Given the description of an element on the screen output the (x, y) to click on. 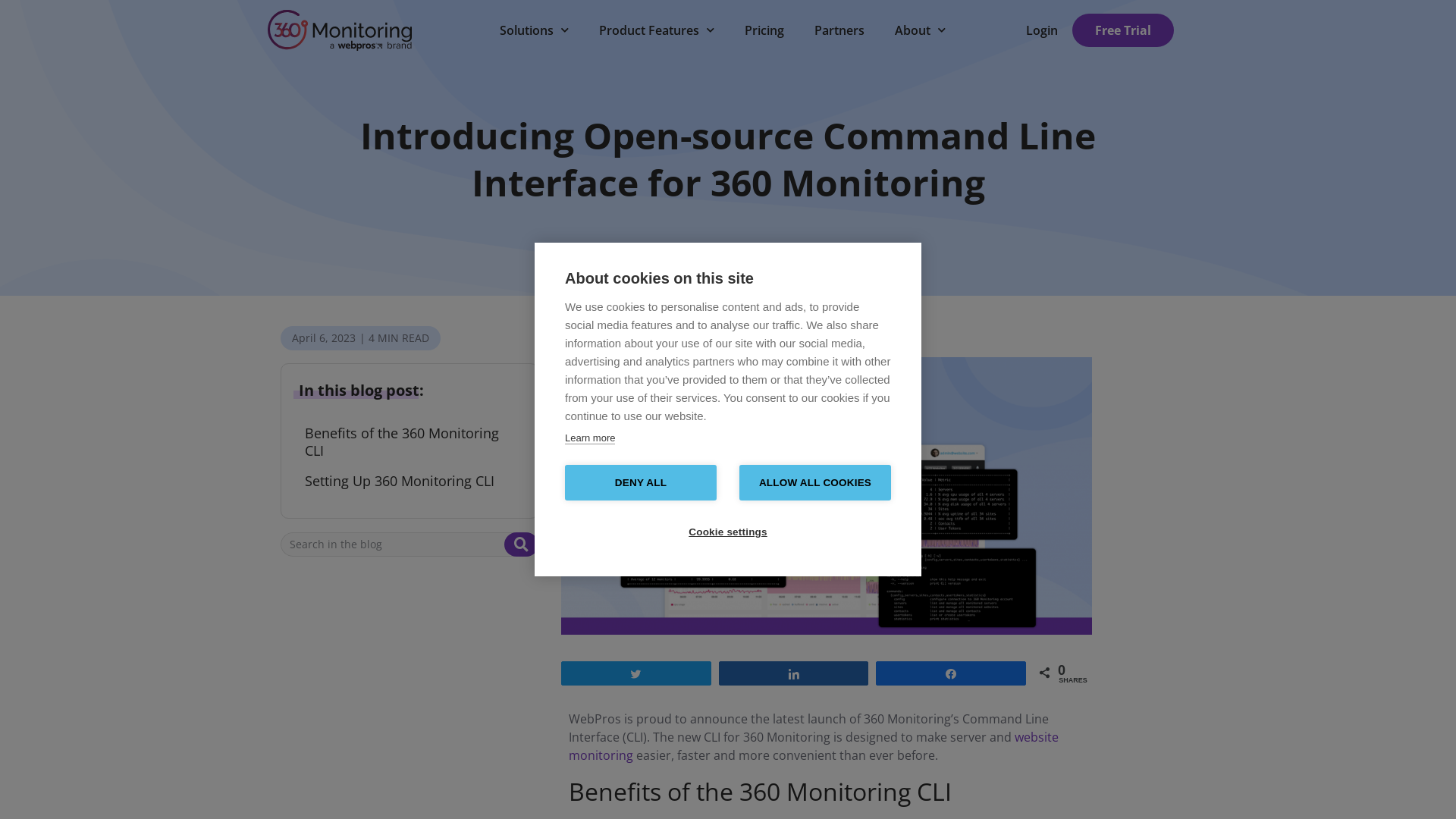
DENY ALL Element type: text (640, 482)
Free Trial Element type: text (1122, 30)
Product Features Element type: text (656, 29)
Pricing Element type: text (764, 29)
Benefits of the 360 Monitoring CLI  Element type: text (413, 442)
Setting Up 360 Monitoring CLI Element type: text (399, 480)
MONITORING Element type: text (677, 333)
Login Element type: text (1041, 29)
Partners Element type: text (839, 29)
website monitoring Element type: text (813, 745)
Cookie settings Element type: text (727, 531)
Learn more Element type: text (589, 438)
ALLOW ALL COOKIES Element type: text (815, 482)
About Element type: text (919, 29)
Solutions Element type: text (533, 29)
